Given the description of an element on the screen output the (x, y) to click on. 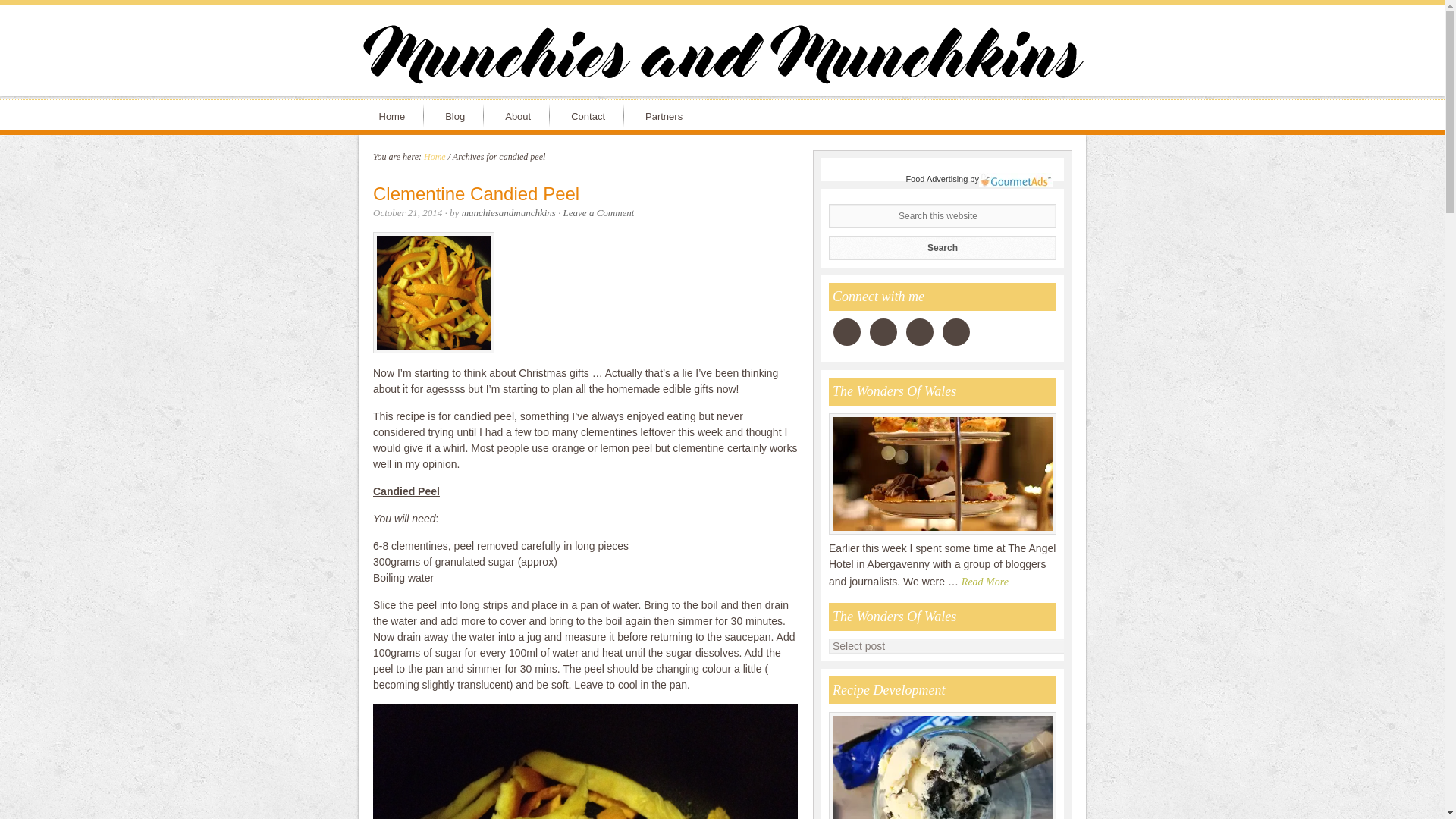
Partners (666, 114)
Home (434, 156)
Contact (590, 114)
Blog (458, 114)
Food Advertising (936, 178)
Home (395, 114)
Search (942, 247)
About (521, 114)
Read More (987, 581)
Search (942, 247)
